Given the description of an element on the screen output the (x, y) to click on. 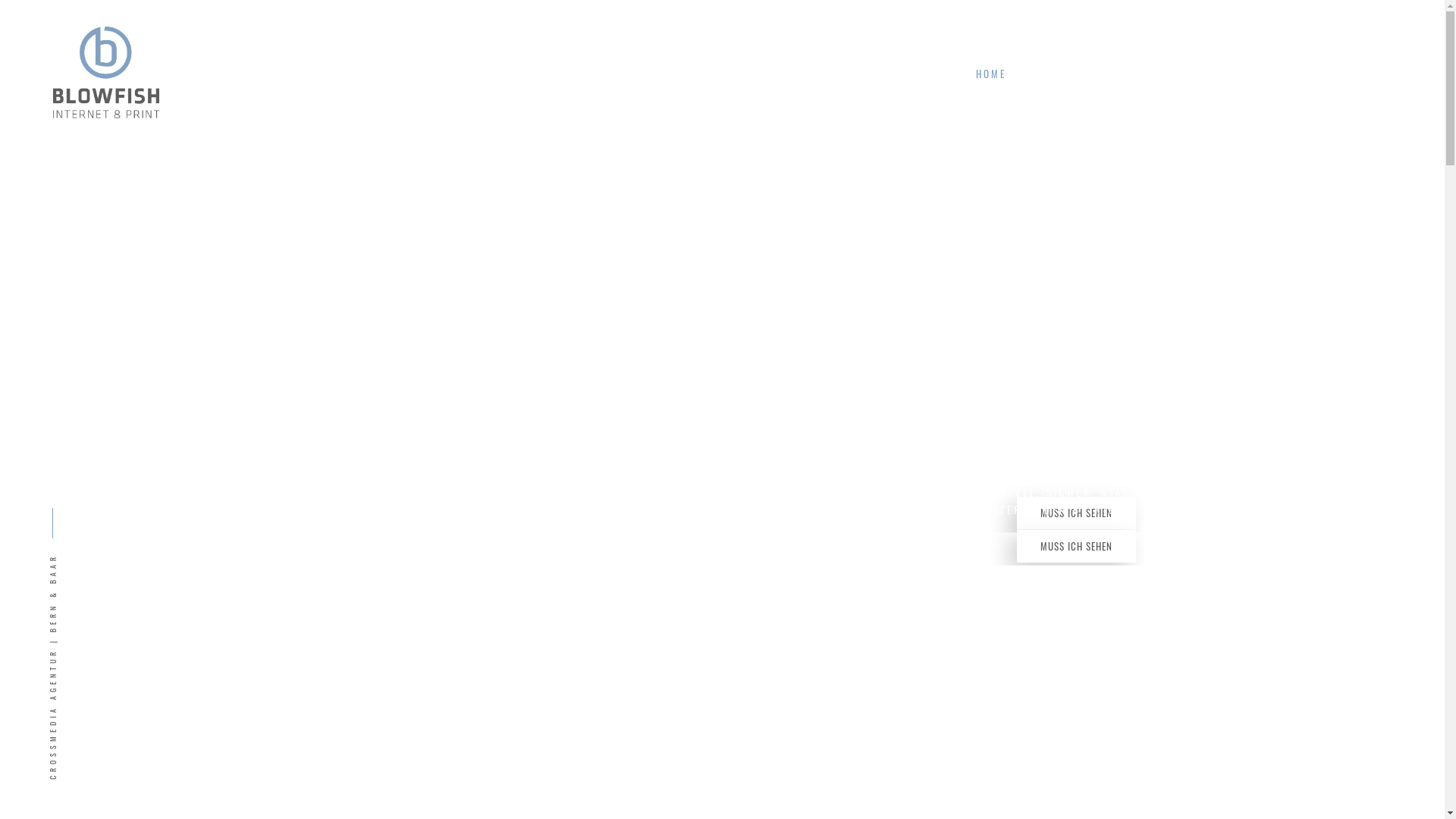
MUSS ICH SEHEN Element type: text (1075, 546)
ANGEBOT Element type: text (1049, 73)
HOME Element type: text (990, 73)
BLOWFISH Element type: text (1204, 73)
HALLO! Element type: text (1270, 73)
PROJEKTE Element type: text (1130, 73)
MUSS ICH SEHEN Element type: text (1075, 512)
